Given the description of an element on the screen output the (x, y) to click on. 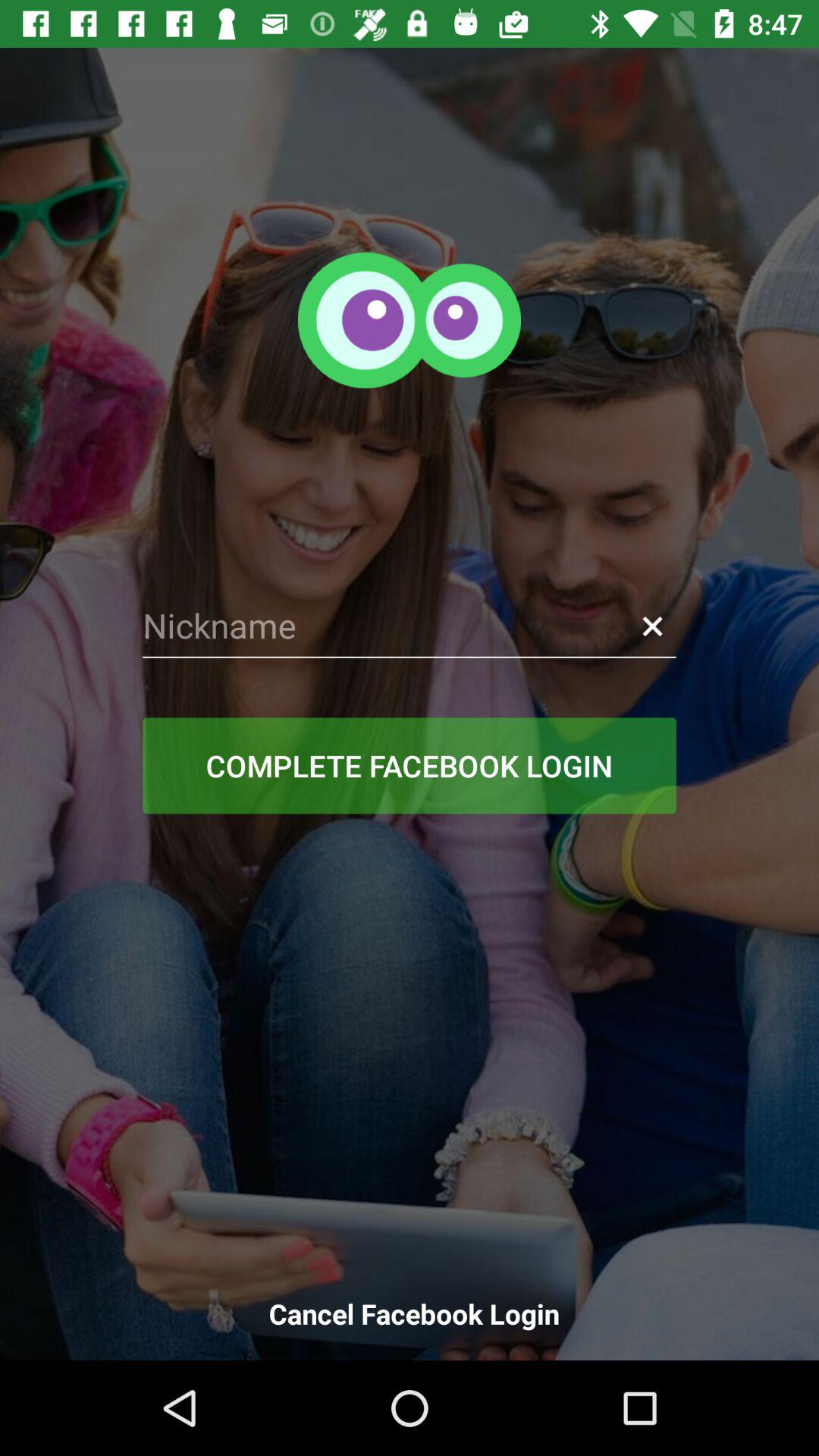
insert nickname (409, 626)
